Given the description of an element on the screen output the (x, y) to click on. 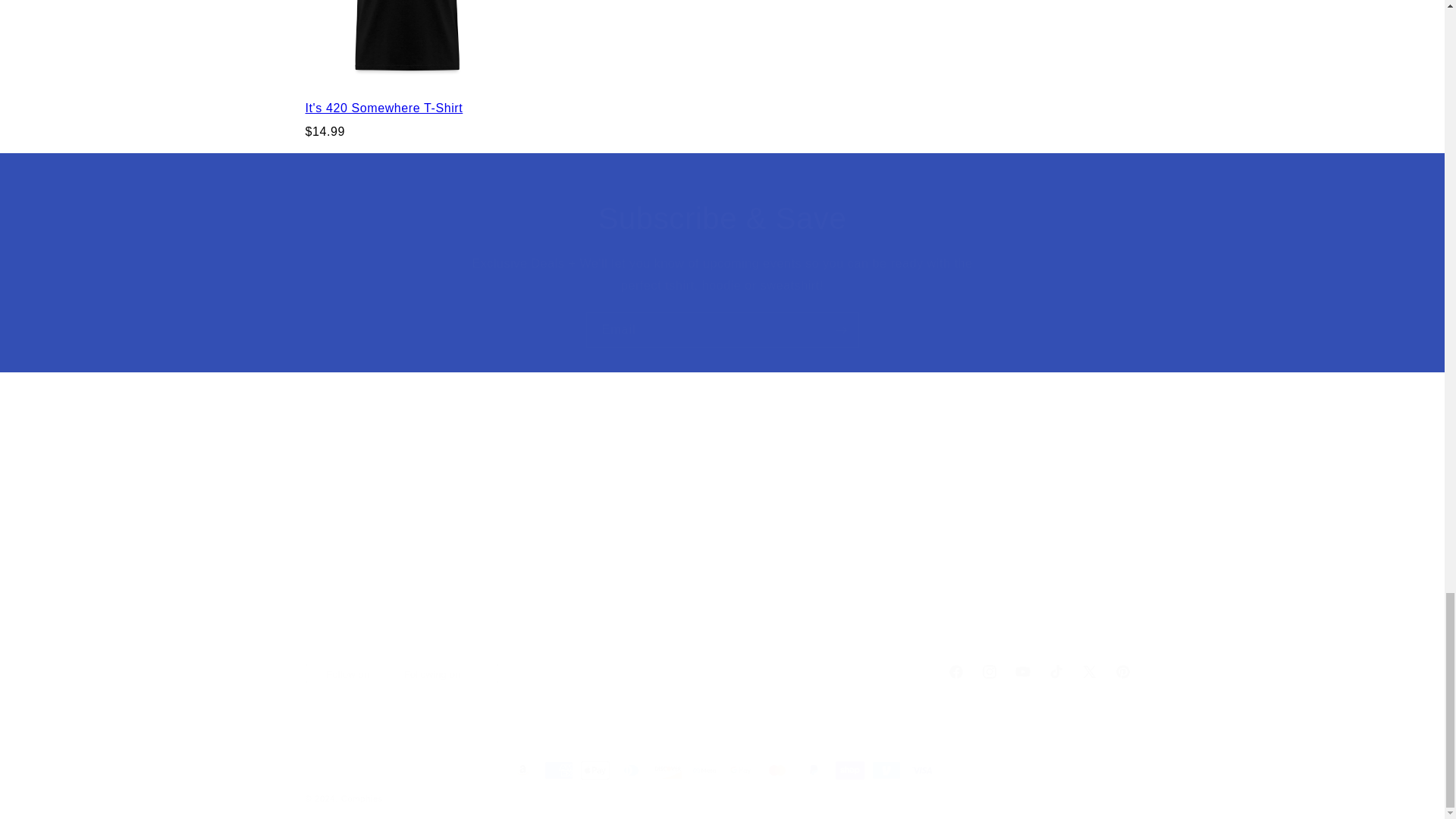
Email (722, 330)
